Given the description of an element on the screen output the (x, y) to click on. 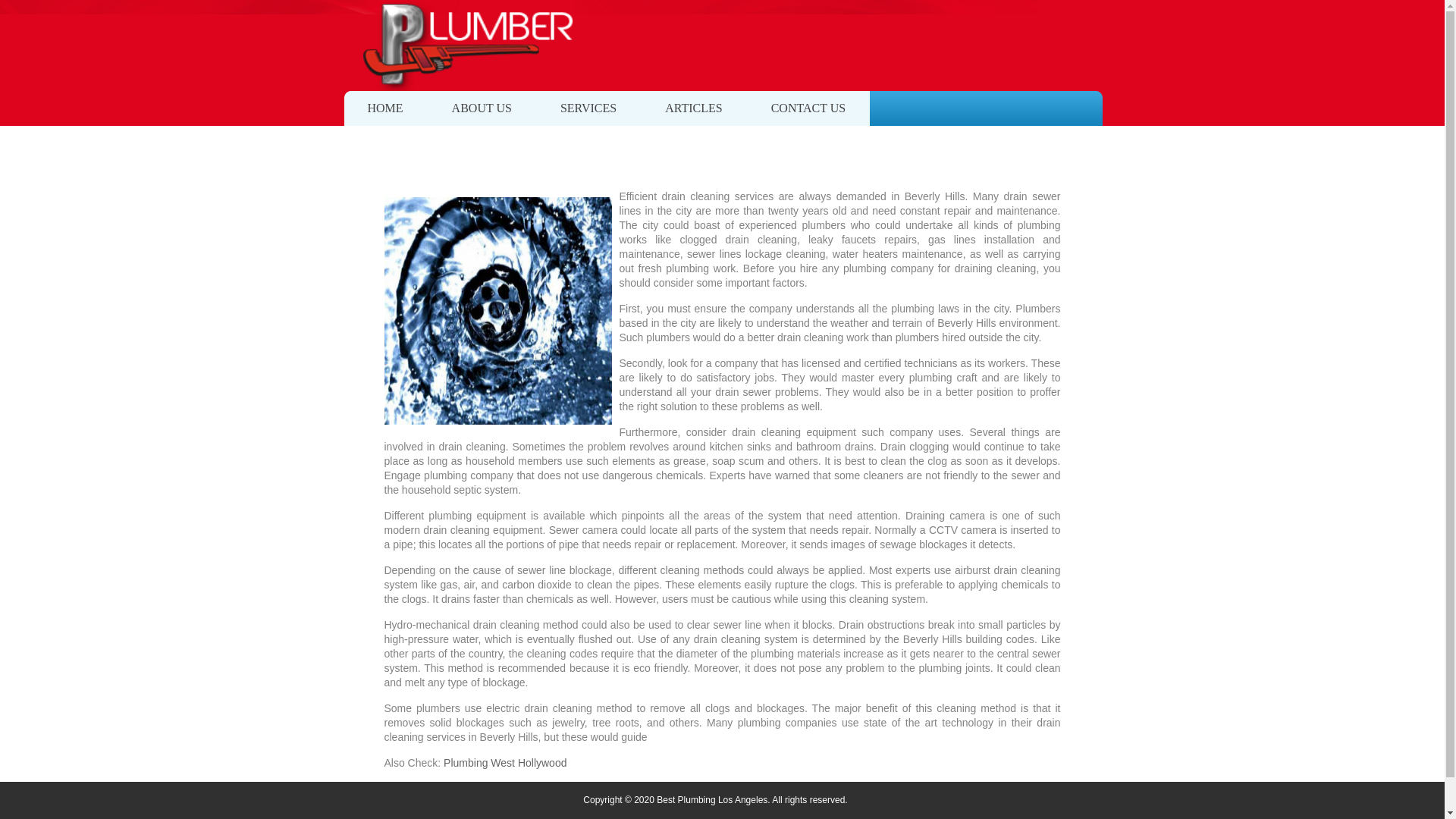
ABOUT US (481, 108)
ARTICLES (692, 108)
HOME (384, 108)
SERVICES (587, 108)
